Given the description of an element on the screen output the (x, y) to click on. 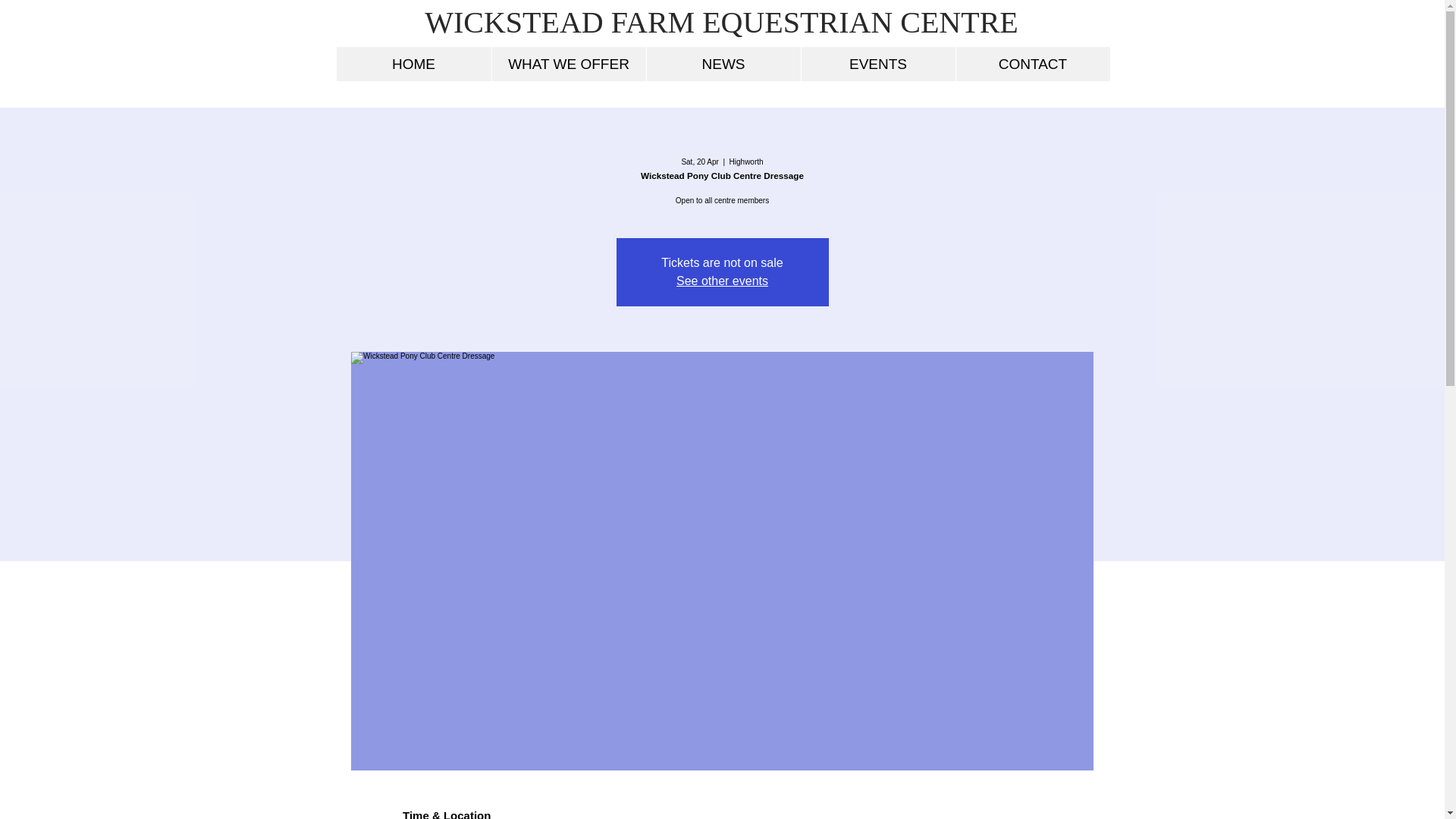
NEWS (723, 63)
EVENTS (877, 63)
CONTACT (1032, 63)
HOME (414, 63)
See other events (722, 280)
WHAT WE OFFER (569, 63)
